Given the description of an element on the screen output the (x, y) to click on. 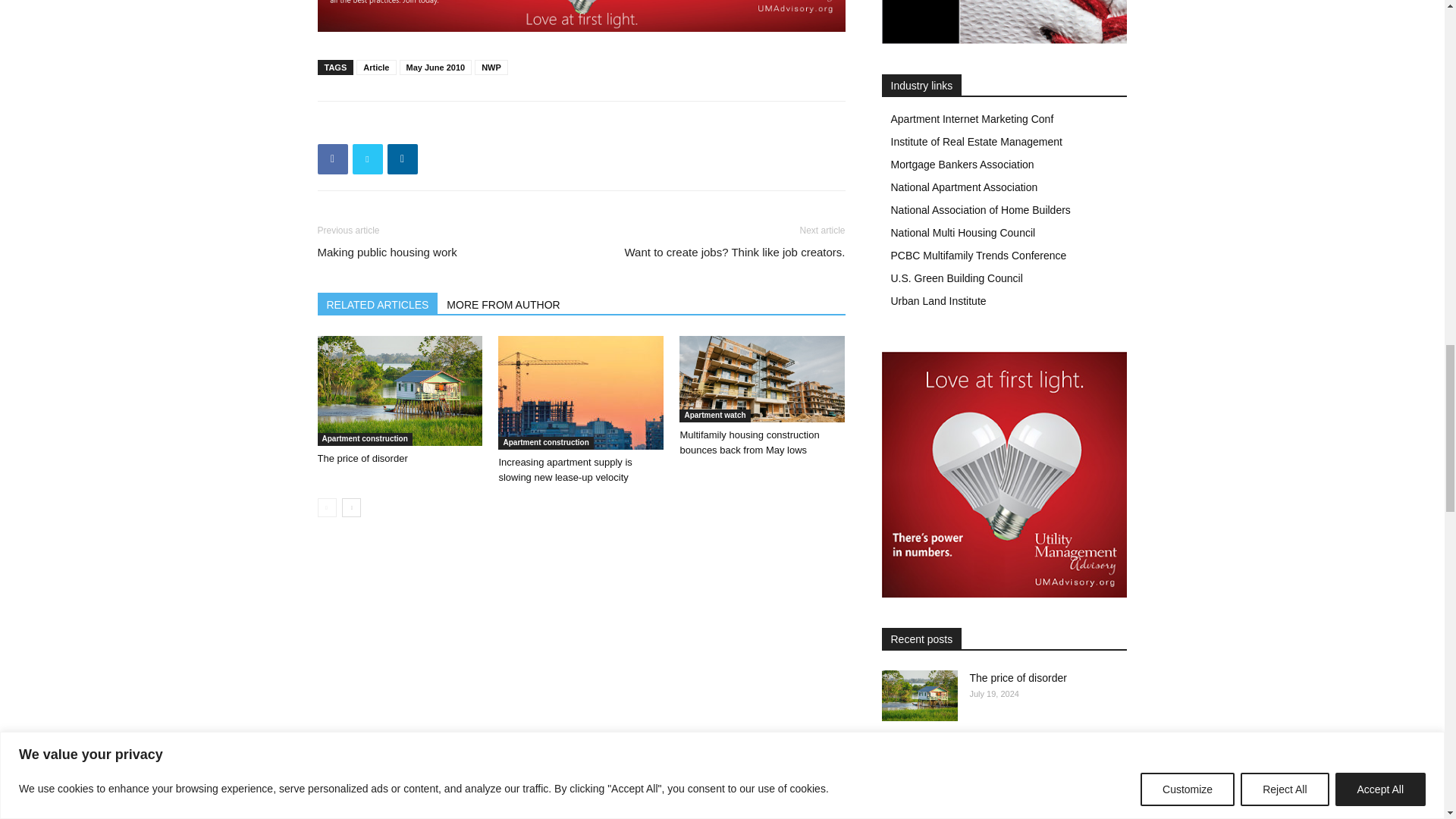
Increasing apartment supply is slowing new lease-up velocity (580, 392)
The price of disorder (362, 458)
The price of disorder (399, 390)
UMAdvisory (580, 15)
Multifamily housing construction bounces back from May lows (761, 378)
Increasing apartment supply is slowing new lease-up velocity (564, 469)
